Given the description of an element on the screen output the (x, y) to click on. 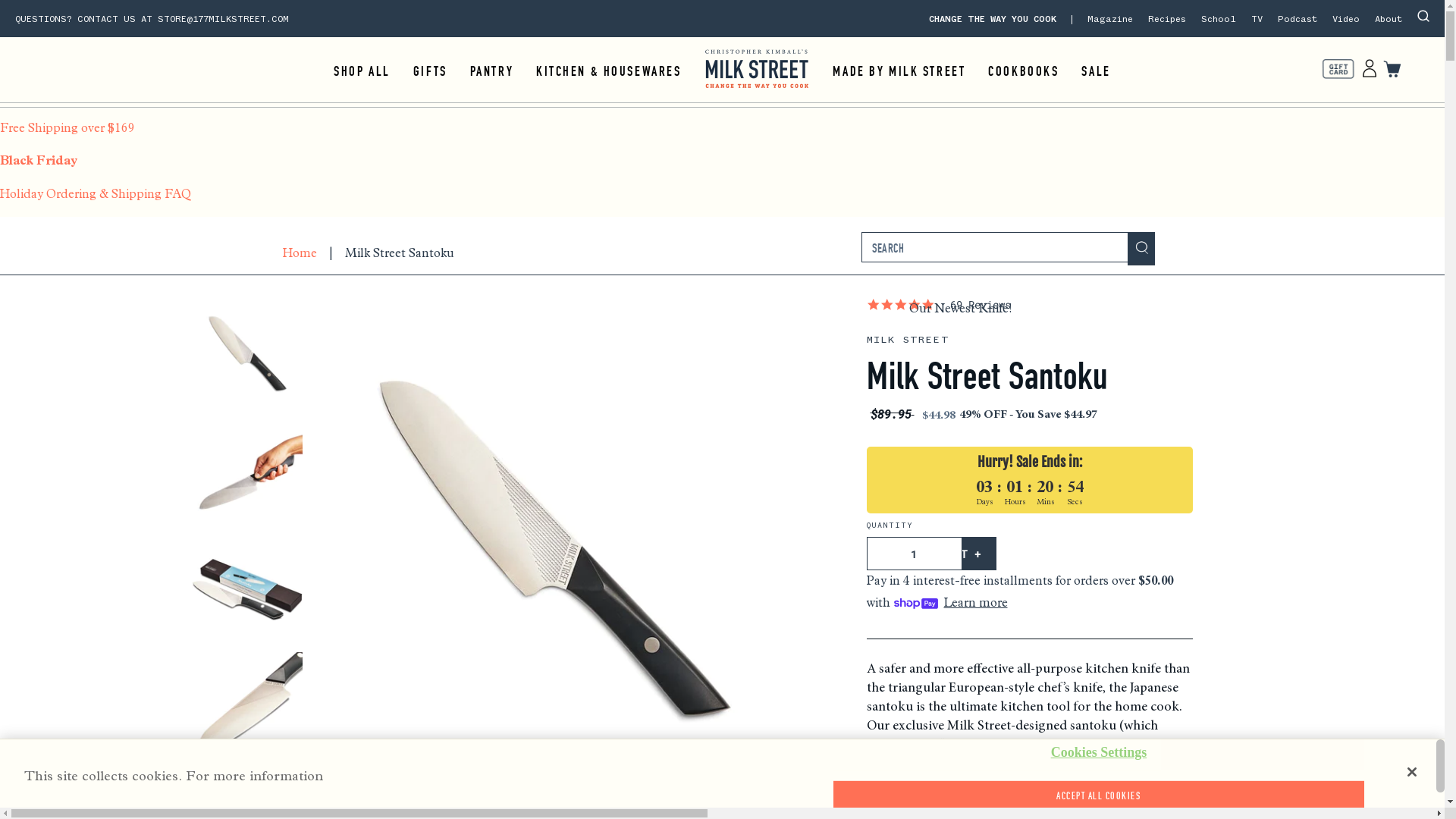
CHANGE THE WAY YOU COOK Element type: text (1000, 19)
SALE Element type: text (1095, 70)
Free Shipping over $169 Element type: text (722, 133)
Podcast Element type: text (1297, 19)
Video Element type: text (1345, 19)
search Element type: text (1140, 248)
School Element type: text (1218, 19)
ADD TO CART + Element type: text (935, 553)
PANTRY Element type: text (491, 70)
TV Element type: text (1256, 19)
Home Element type: text (299, 252)
SHOP ALL Element type: text (361, 70)
GIFTS Element type: text (430, 70)
Holiday Ordering & Shipping FAQ Element type: text (722, 199)
ACCEPT ALL COOKIES Element type: text (1098, 796)
Black Friday Element type: text (722, 166)
QUESTIONS? CONTACT US AT STORE@177MILKSTREET.COM Element type: text (151, 19)
About Element type: text (1388, 19)
MADE BY MILK STREET Element type: text (898, 70)
Cookies Settings Element type: text (1098, 752)
69 Reviews Element type: text (980, 304)
KITCHEN & HOUSEWARES Element type: text (608, 70)
COOKBOOKS Element type: text (1023, 70)
Magazine Element type: text (1109, 19)
Recipes Element type: text (1167, 19)
